Given the description of an element on the screen output the (x, y) to click on. 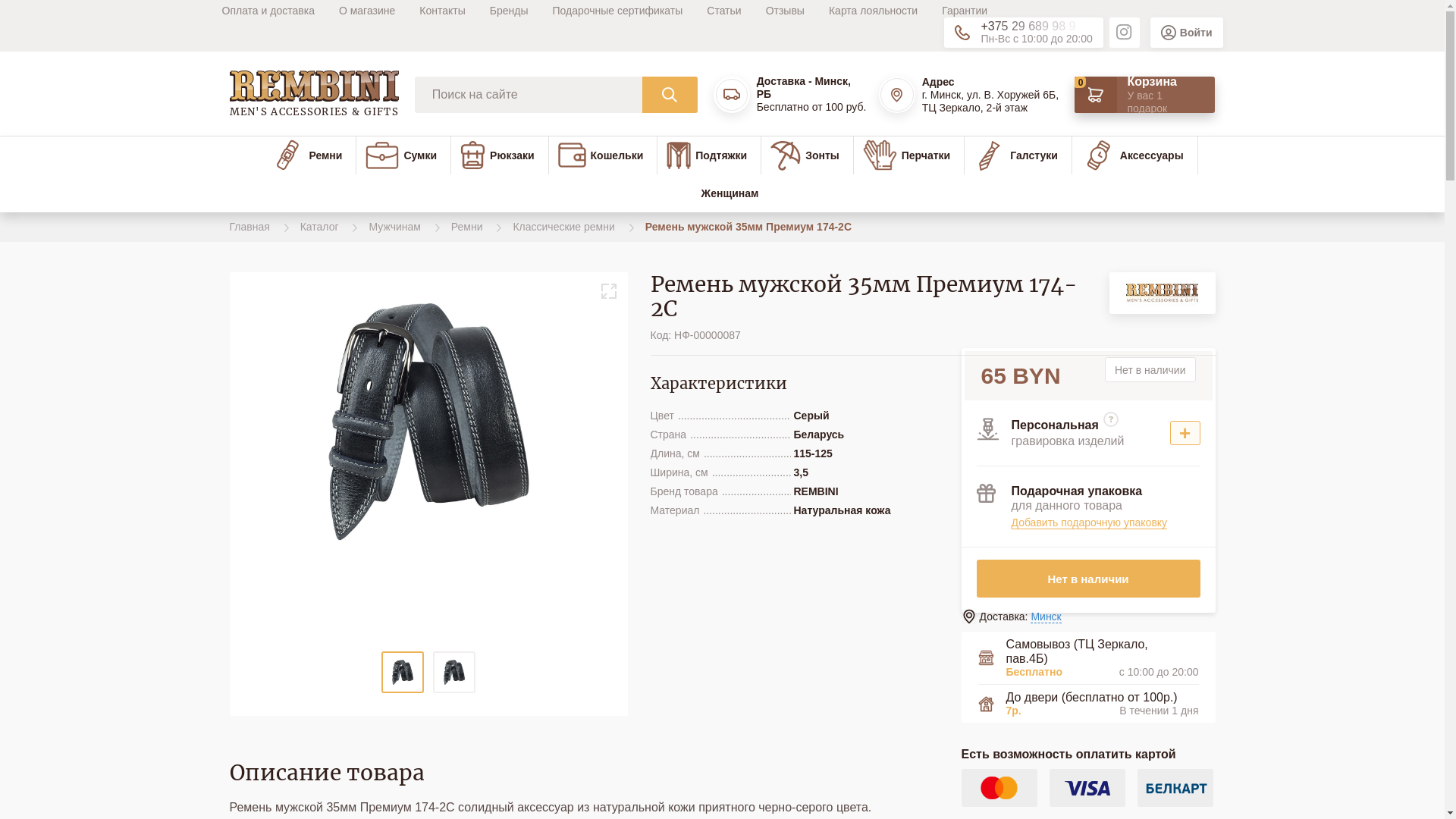
MEN'S ACCESSORIES & GIFTS Element type: text (313, 94)
+375 29 689 98 9 Element type: text (1031, 26)
